Given the description of an element on the screen output the (x, y) to click on. 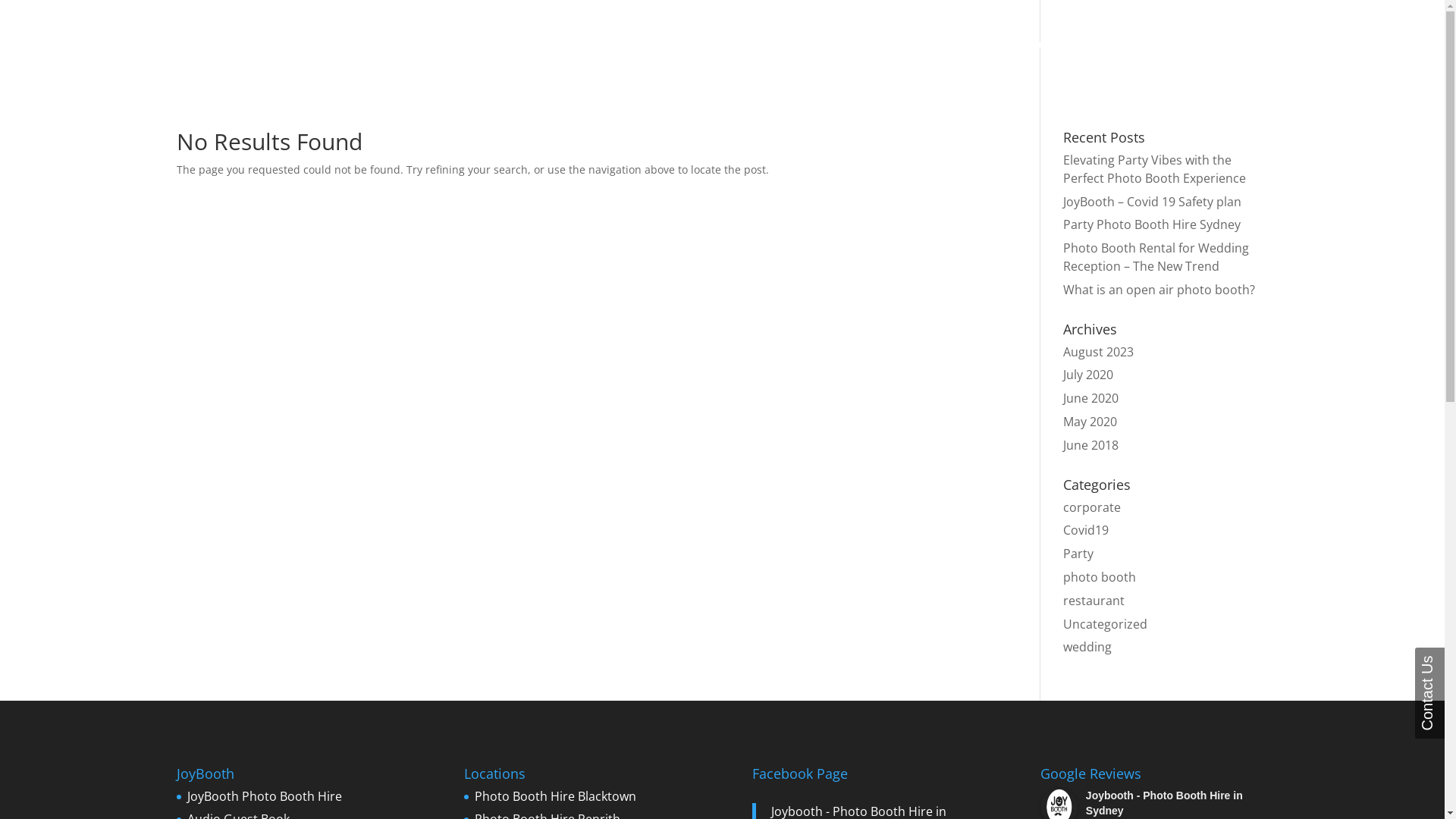
Photo Booth Element type: text (643, 61)
July 2020 Element type: text (1088, 374)
Party Photo Booth Hire Sydney Element type: text (1151, 224)
What is an open air photo booth? Element type: text (1159, 289)
Hashtag Printer Element type: text (870, 61)
August 2023 Element type: text (1098, 351)
June 2018 Element type: text (1090, 444)
wedding Element type: text (1087, 646)
Booking Form Element type: text (1163, 61)
Print Template Element type: text (1059, 61)
Audio Guest Book Element type: text (752, 61)
June 2020 Element type: text (1090, 397)
corporate Element type: text (1091, 506)
Contact Element type: text (1245, 61)
Photo Booth Hire Blacktown Element type: text (555, 795)
JoyBooth Photo Booth Hire Element type: text (263, 795)
Backdrops Element type: text (966, 61)
restaurant Element type: text (1093, 600)
Joybooth - Photo Booth Hire in Sydney Element type: text (1163, 802)
photo booth Element type: text (1099, 576)
May 2020 Element type: text (1090, 421)
Party Element type: text (1078, 553)
Covid19 Element type: text (1085, 529)
Uncategorized Element type: text (1105, 623)
